Given the description of an element on the screen output the (x, y) to click on. 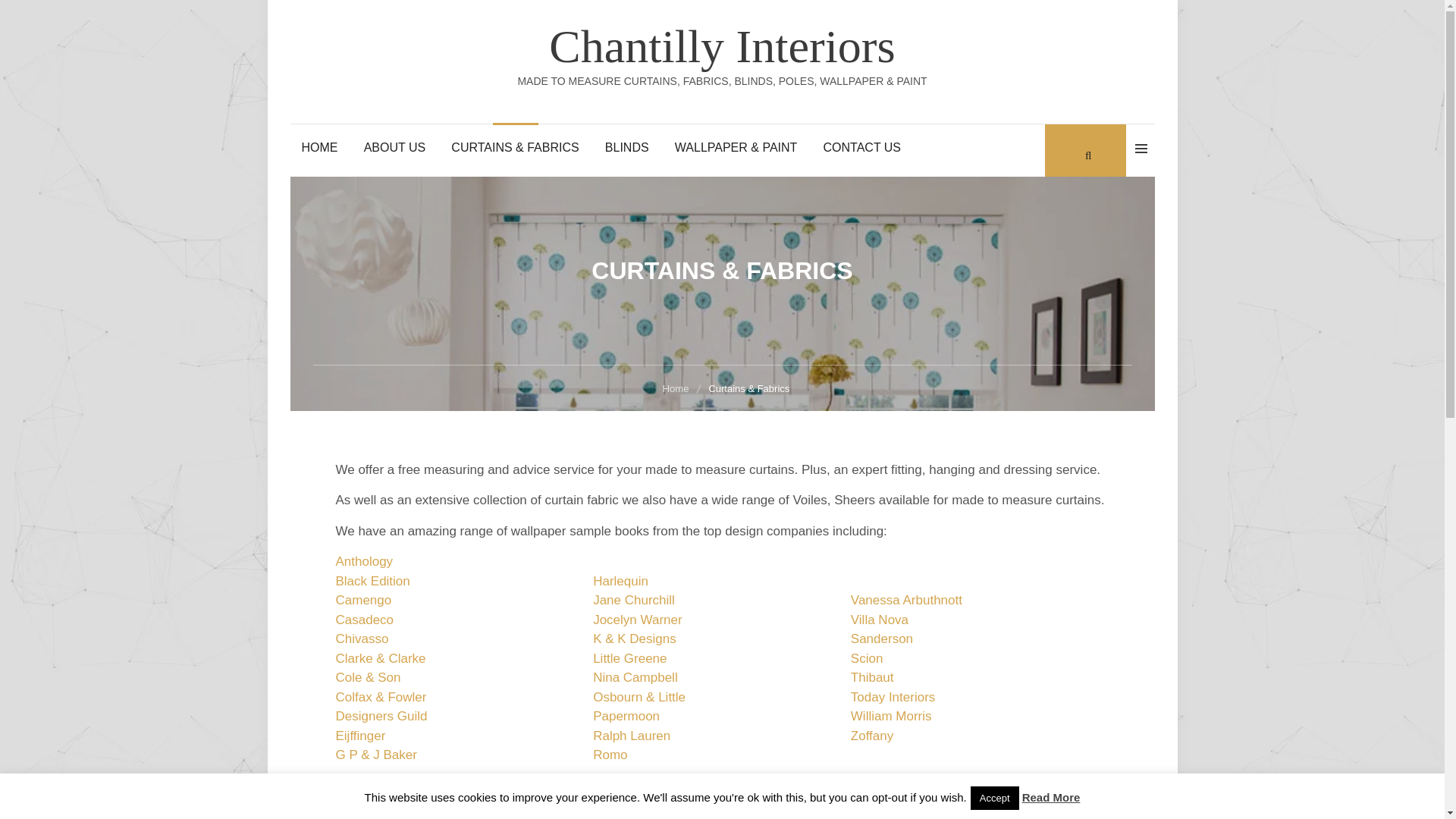
CONTACT US (862, 147)
HOME (319, 147)
Harlequin (619, 580)
Black Edition (371, 580)
Search (29, 15)
Chivasso (361, 638)
Chantilly Interiors (721, 46)
Designers Guild (380, 716)
Jane Churchill (633, 599)
Home (677, 387)
